Given the description of an element on the screen output the (x, y) to click on. 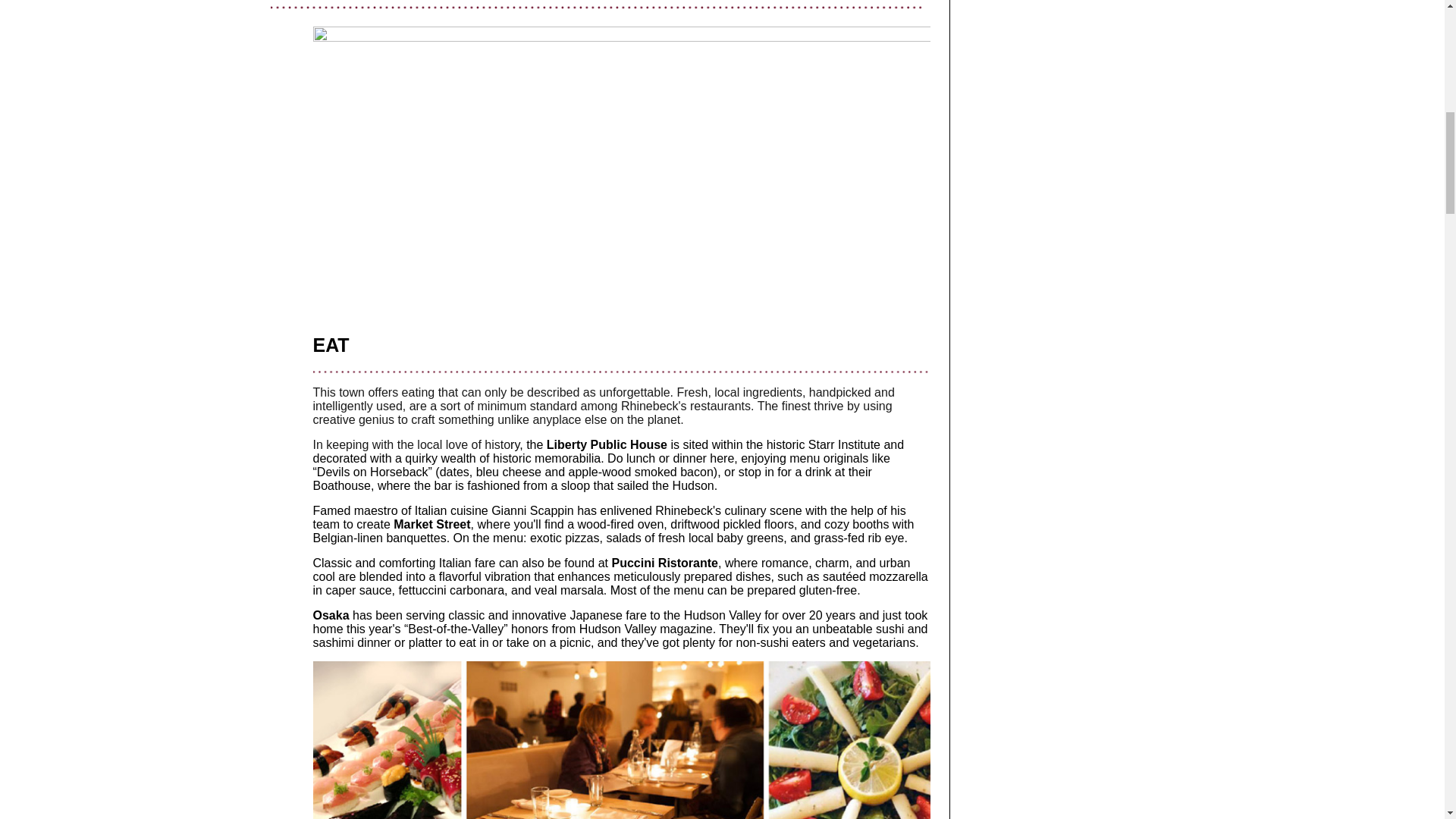
Liberty Public House (606, 444)
Market Street (431, 523)
Osaka (331, 615)
Puccini Ristorante (664, 562)
